Given the description of an element on the screen output the (x, y) to click on. 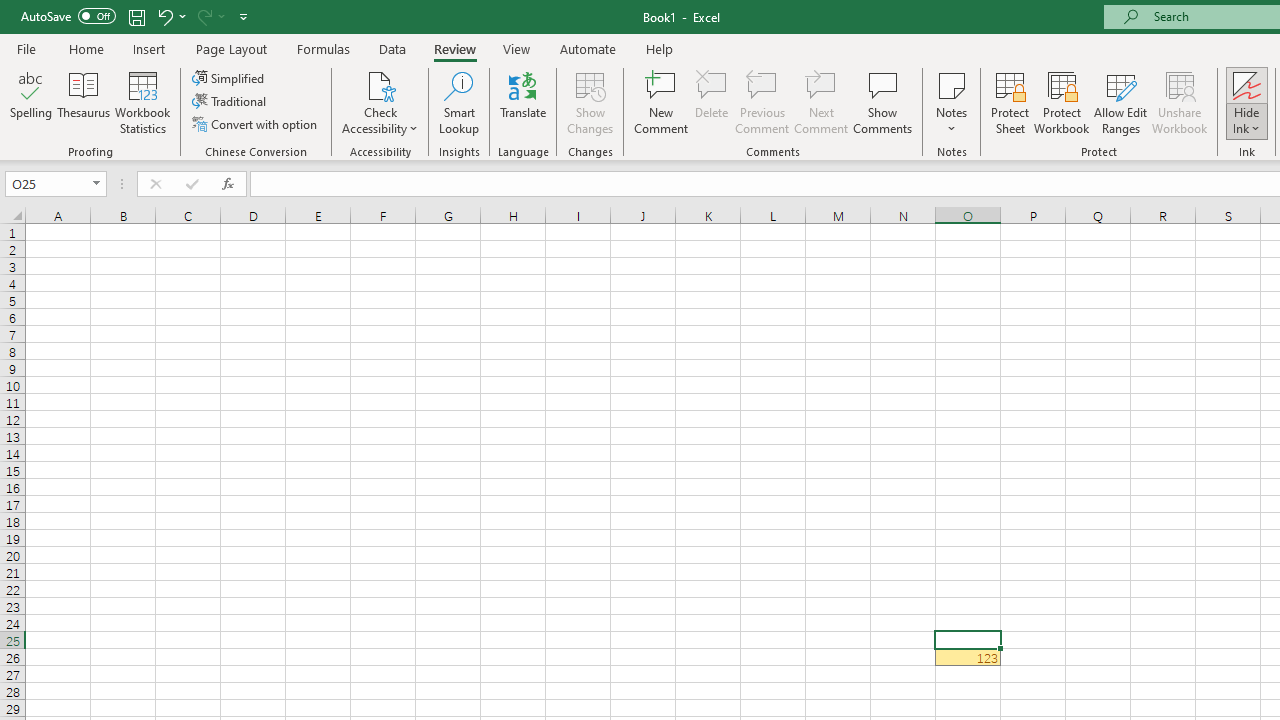
Data (392, 48)
Simplified (230, 78)
Insert (149, 48)
Show Changes (589, 102)
Customize Quick Access Toolbar (244, 15)
Delete (712, 102)
Hide Ink (1247, 84)
System (10, 11)
Save (136, 15)
Next Comment (821, 102)
Show Comments (883, 102)
Protect Sheet... (1010, 102)
Open (96, 183)
Hide Ink (1247, 102)
File Tab (26, 48)
